Given the description of an element on the screen output the (x, y) to click on. 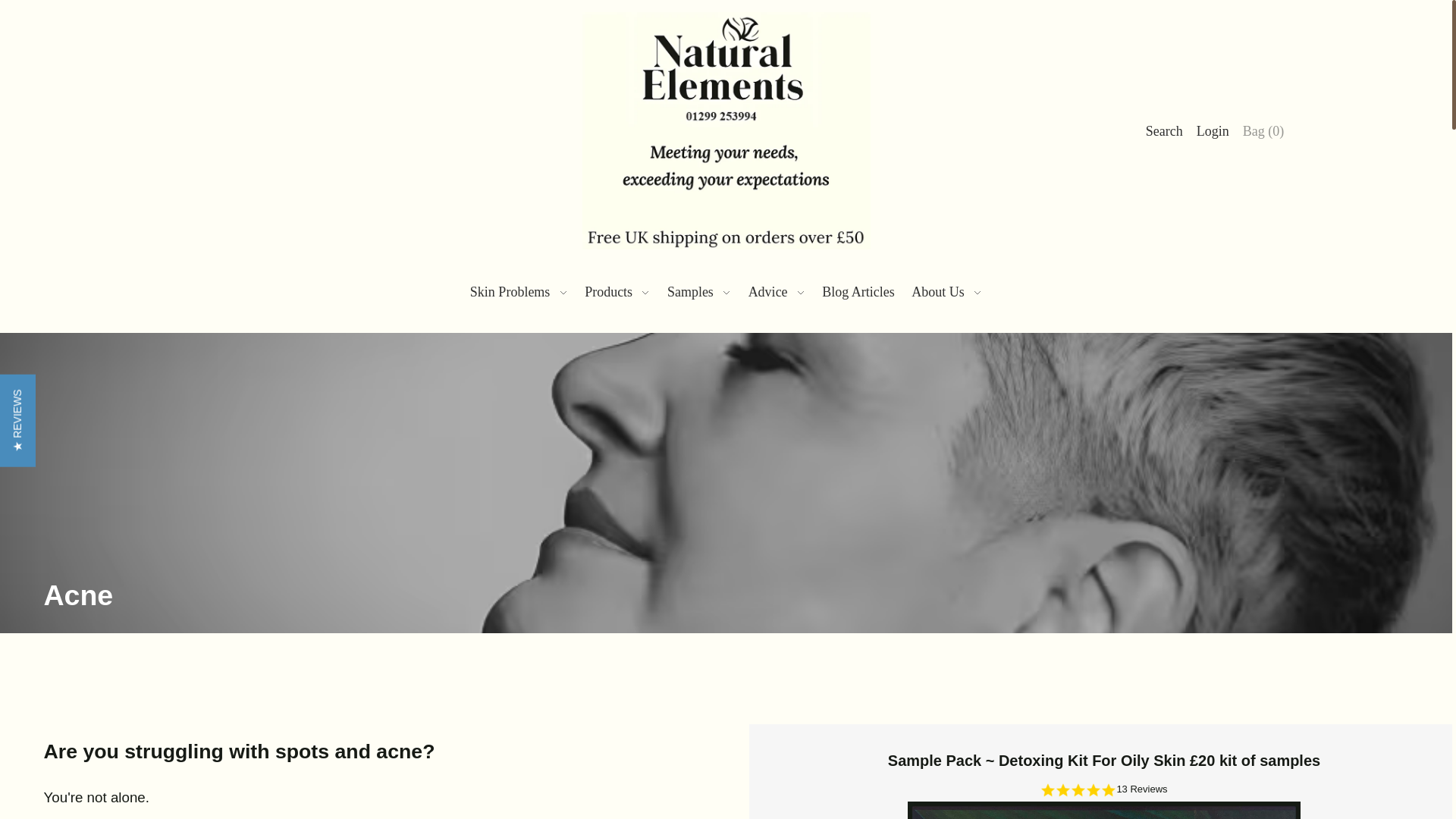
Products (617, 291)
Skin Problems (519, 291)
Search (1164, 130)
Login (1212, 130)
